Given the description of an element on the screen output the (x, y) to click on. 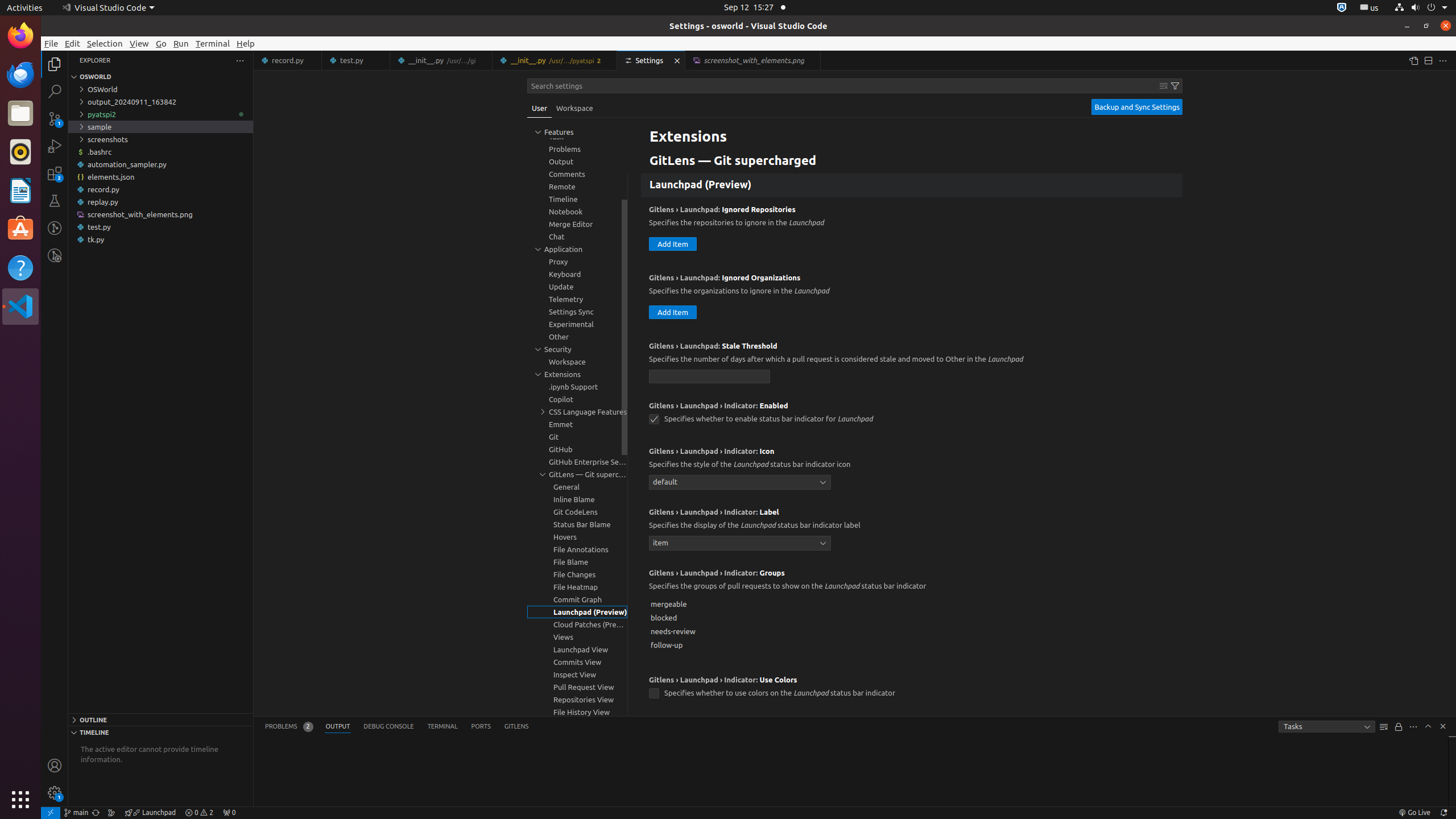
Security, group Element type: tree-item (577, 348)
Turn Auto Scrolling Off Element type: check-box (1398, 726)
Comments, group Element type: tree-item (577, 173)
More Actions... (Shift+F9) Element type: push-button (634, 678)
record.py Element type: tree-item (160, 189)
